Given the description of an element on the screen output the (x, y) to click on. 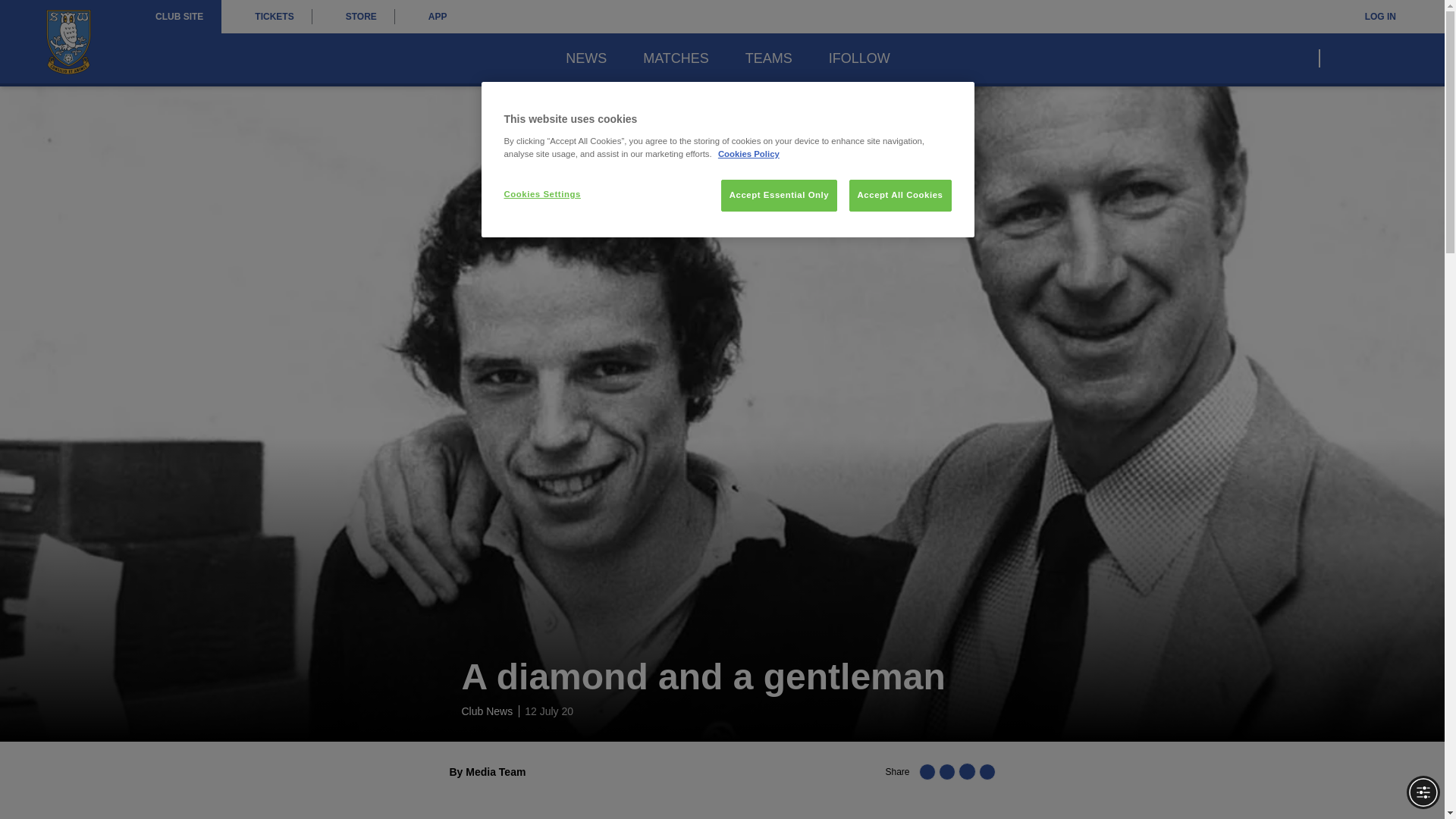
CLUB SITE (178, 16)
Accept Essential Only (778, 195)
Cookies Policy (747, 153)
APP (429, 16)
Cookies Settings (554, 194)
STORE (353, 16)
TICKETS (266, 16)
Help widget launcher (75, 781)
MATCHES (676, 58)
TEAMS (768, 58)
Accessibility Menu (1422, 792)
Accept All Cookies (900, 195)
IFOLLOW (858, 58)
